Given the description of an element on the screen output the (x, y) to click on. 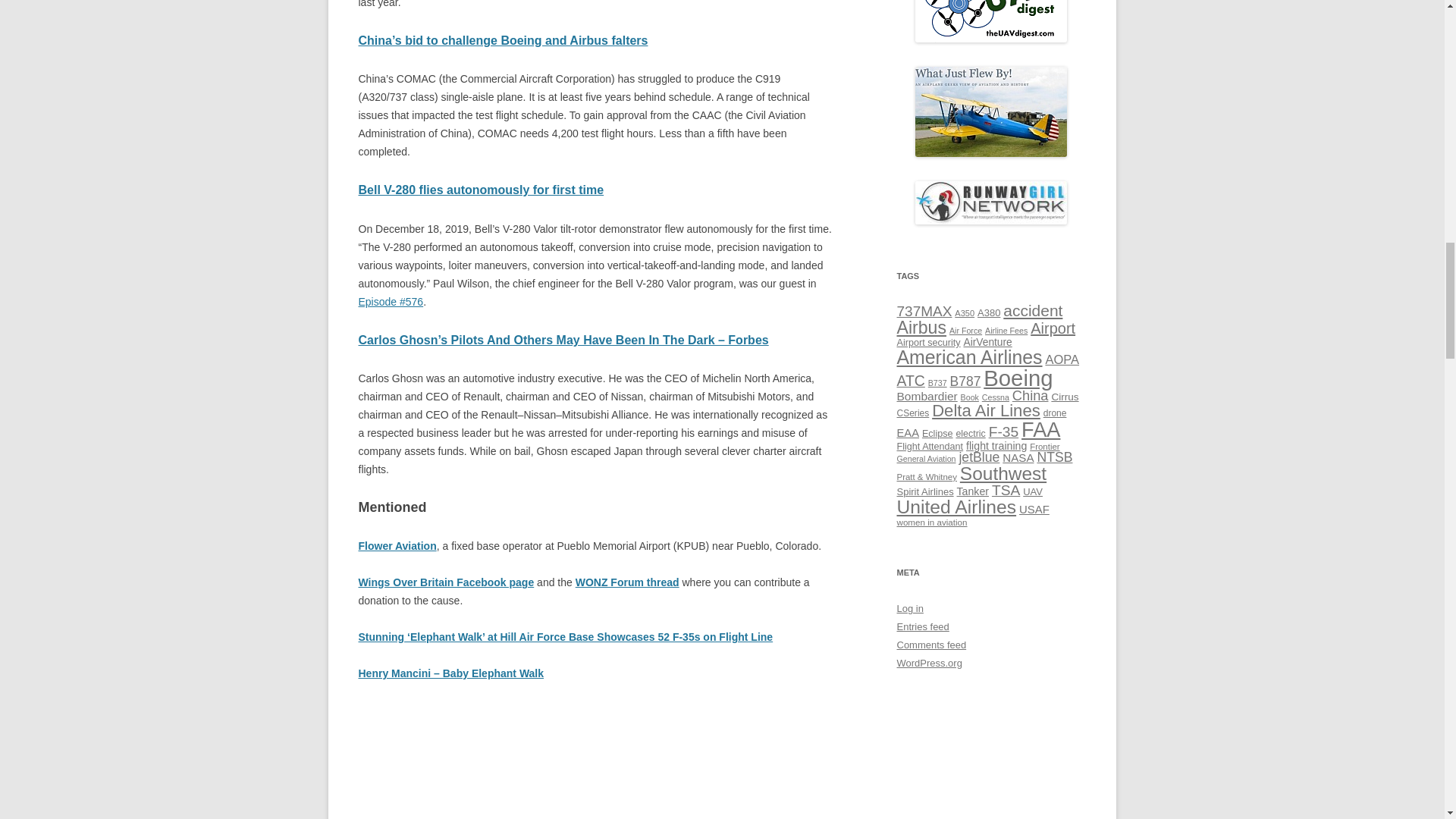
Bell V-280 flies autonomously for first time (481, 189)
WONZ Forum thread (627, 582)
Wings Over Britain Facebook page (446, 582)
Henry Mancini - Baby Elephant Walk (594, 760)
Flower Aviation (396, 545)
